Given the description of an element on the screen output the (x, y) to click on. 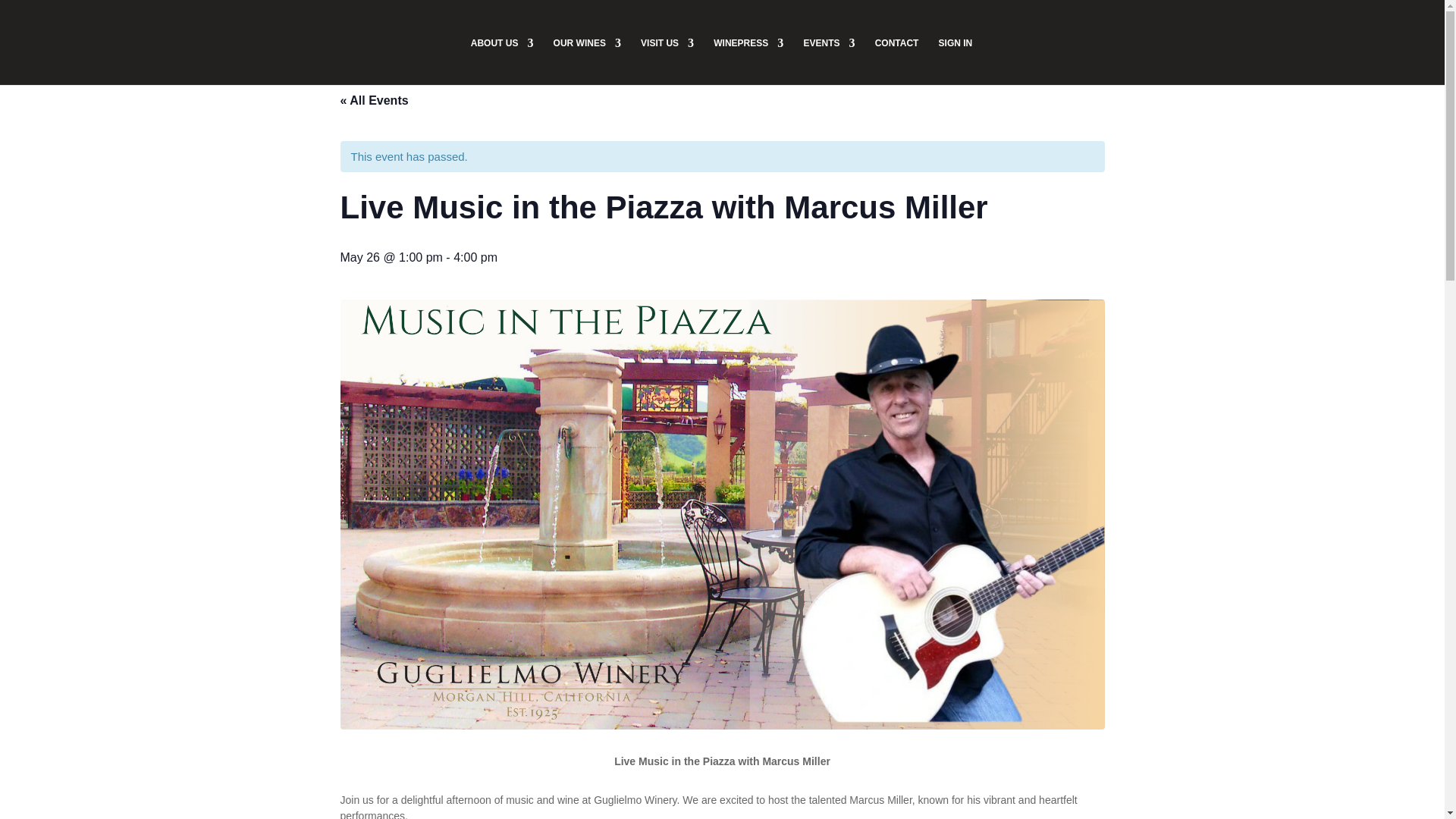
OUR WINES (587, 61)
CONTACT (896, 61)
WINEPRESS (748, 61)
VISIT US (667, 61)
EVENTS (828, 61)
ABOUT US (502, 61)
